Given the description of an element on the screen output the (x, y) to click on. 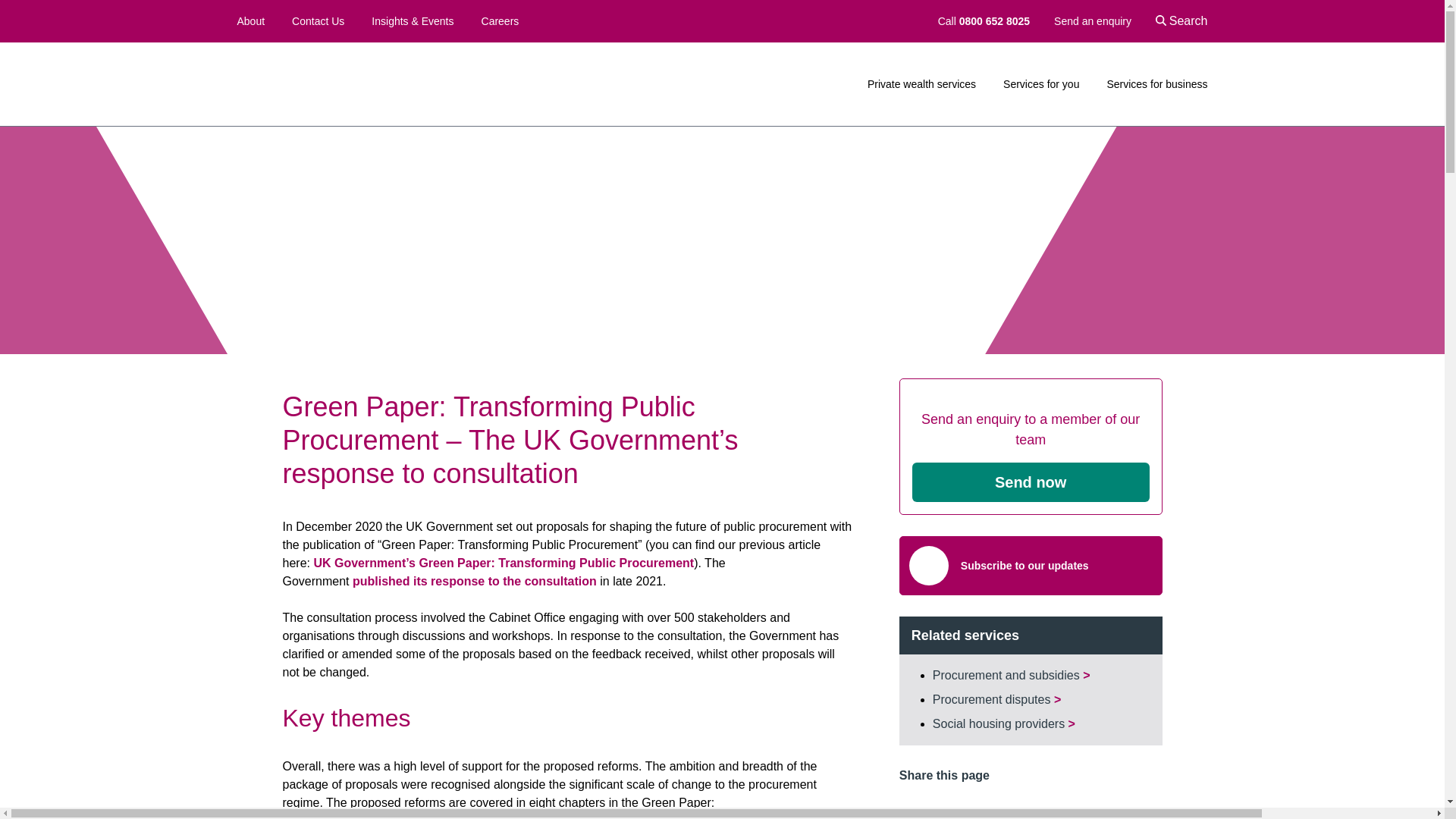
Careers (500, 21)
Contact Us (317, 21)
Call 0800 652 8025 (984, 21)
About (249, 21)
Send an enquiry (1092, 21)
